Given the description of an element on the screen output the (x, y) to click on. 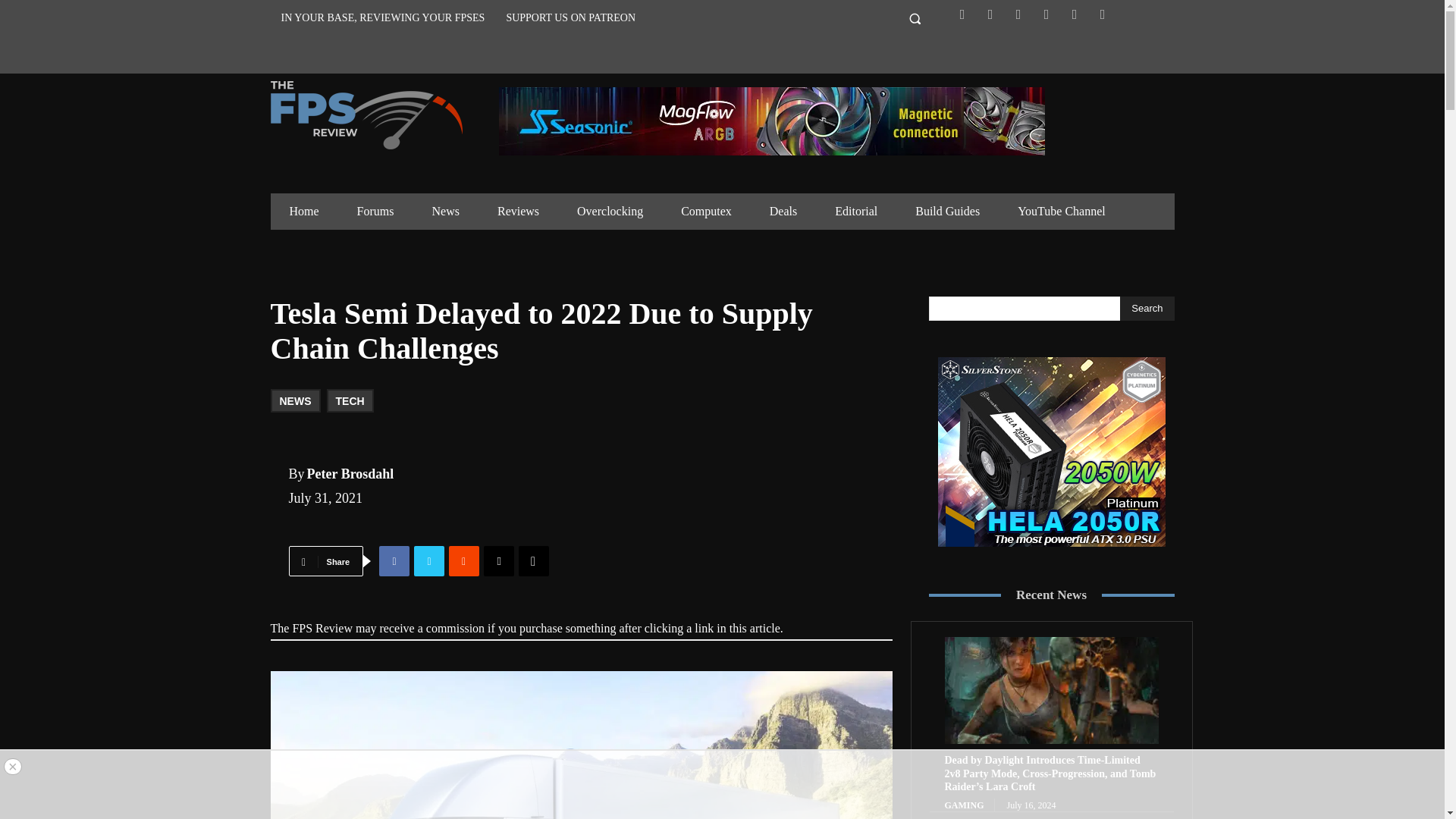
Flipboard (990, 13)
Facebook (962, 13)
Instagram (1018, 13)
